Given the description of an element on the screen output the (x, y) to click on. 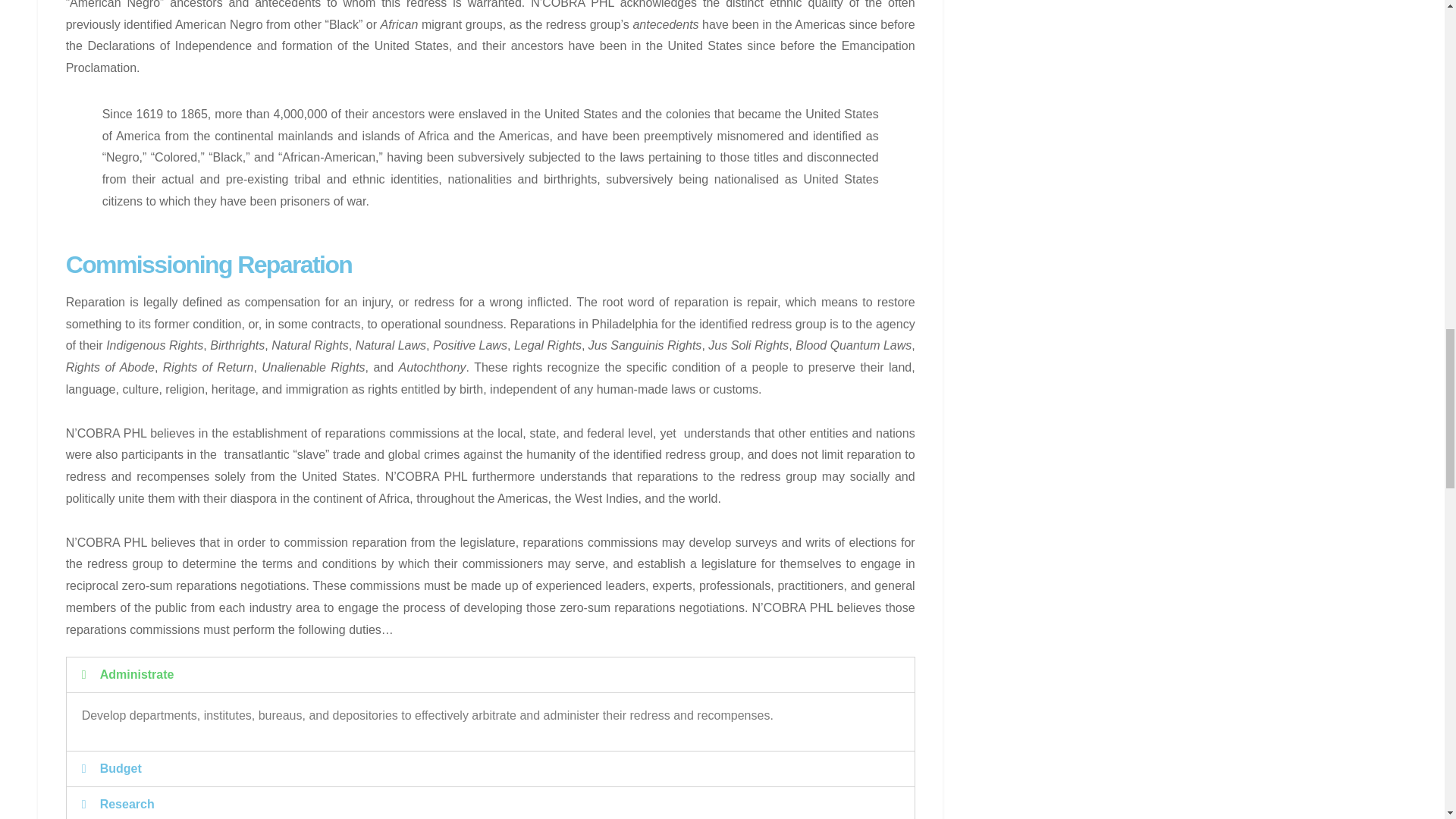
Research (127, 803)
Budget (120, 768)
Administrate (137, 674)
